Given the description of an element on the screen output the (x, y) to click on. 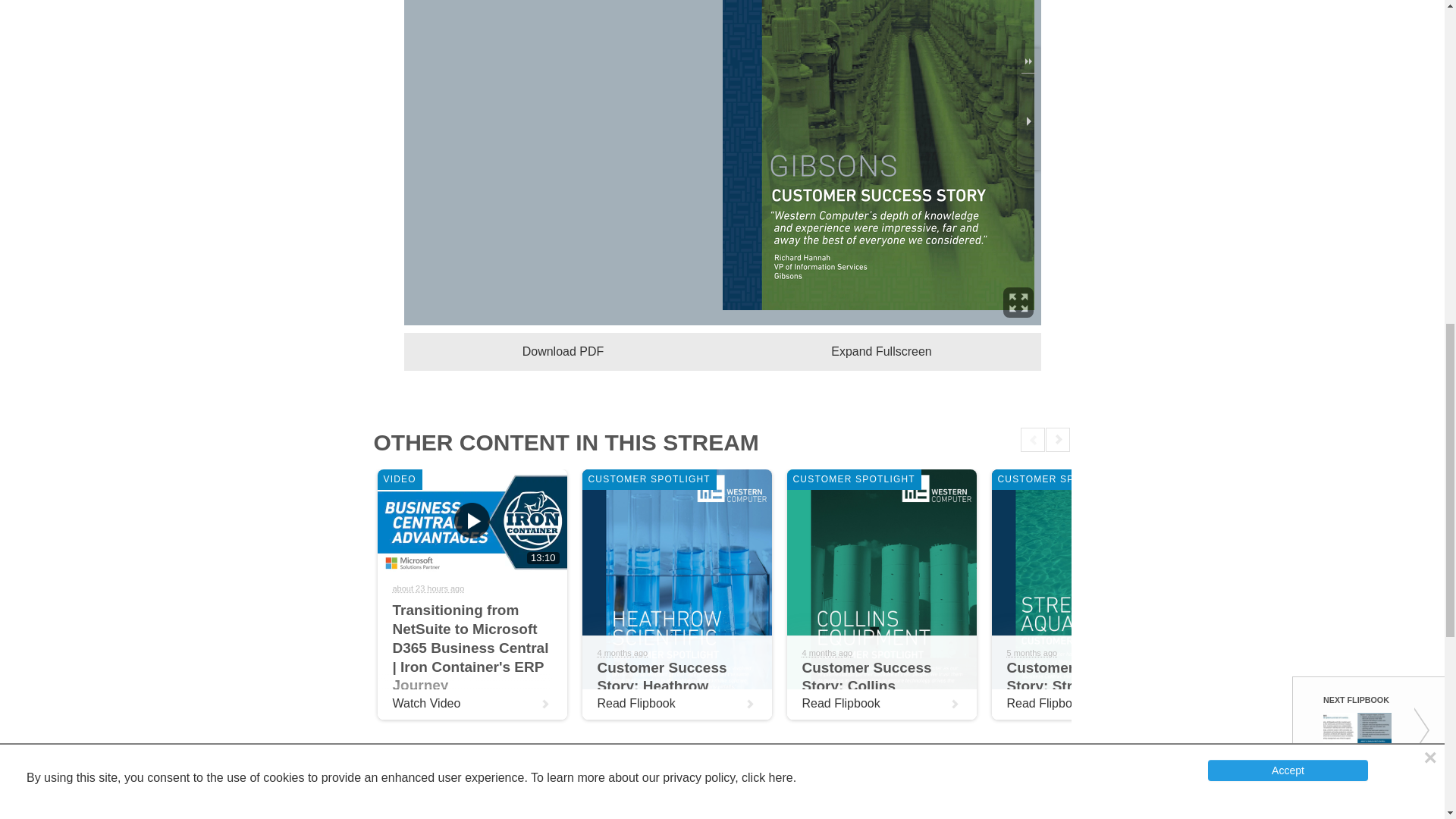
2024-02-15T13:46:21 (1032, 652)
2024-03-25T12:56:16 (827, 652)
2024-04-02T11:17:08 (621, 652)
2024-07-16T14:53:55 (428, 587)
